Given the description of an element on the screen output the (x, y) to click on. 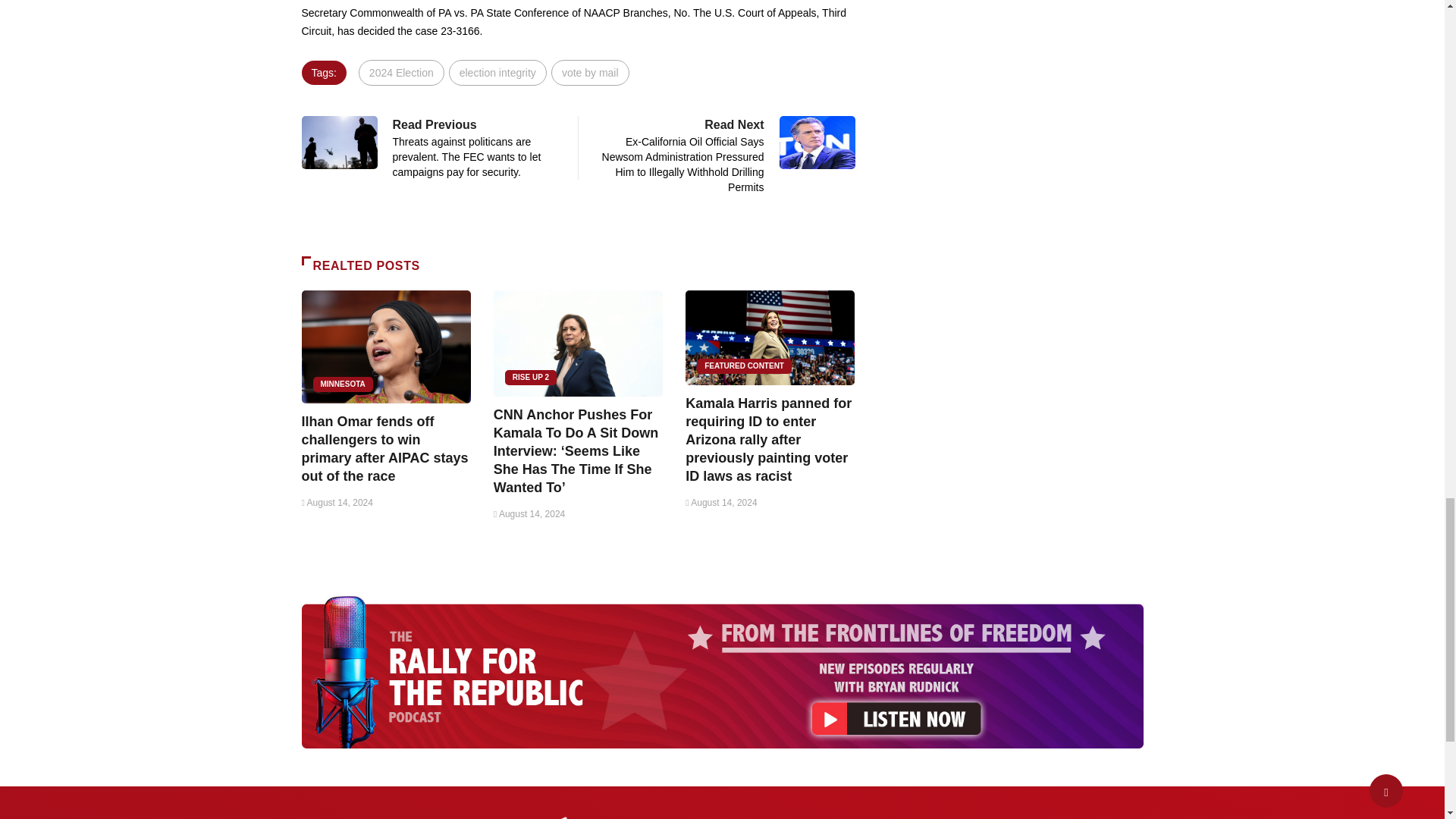
vote by mail (589, 72)
election integrity (497, 72)
2024 Election (401, 72)
